Given the description of an element on the screen output the (x, y) to click on. 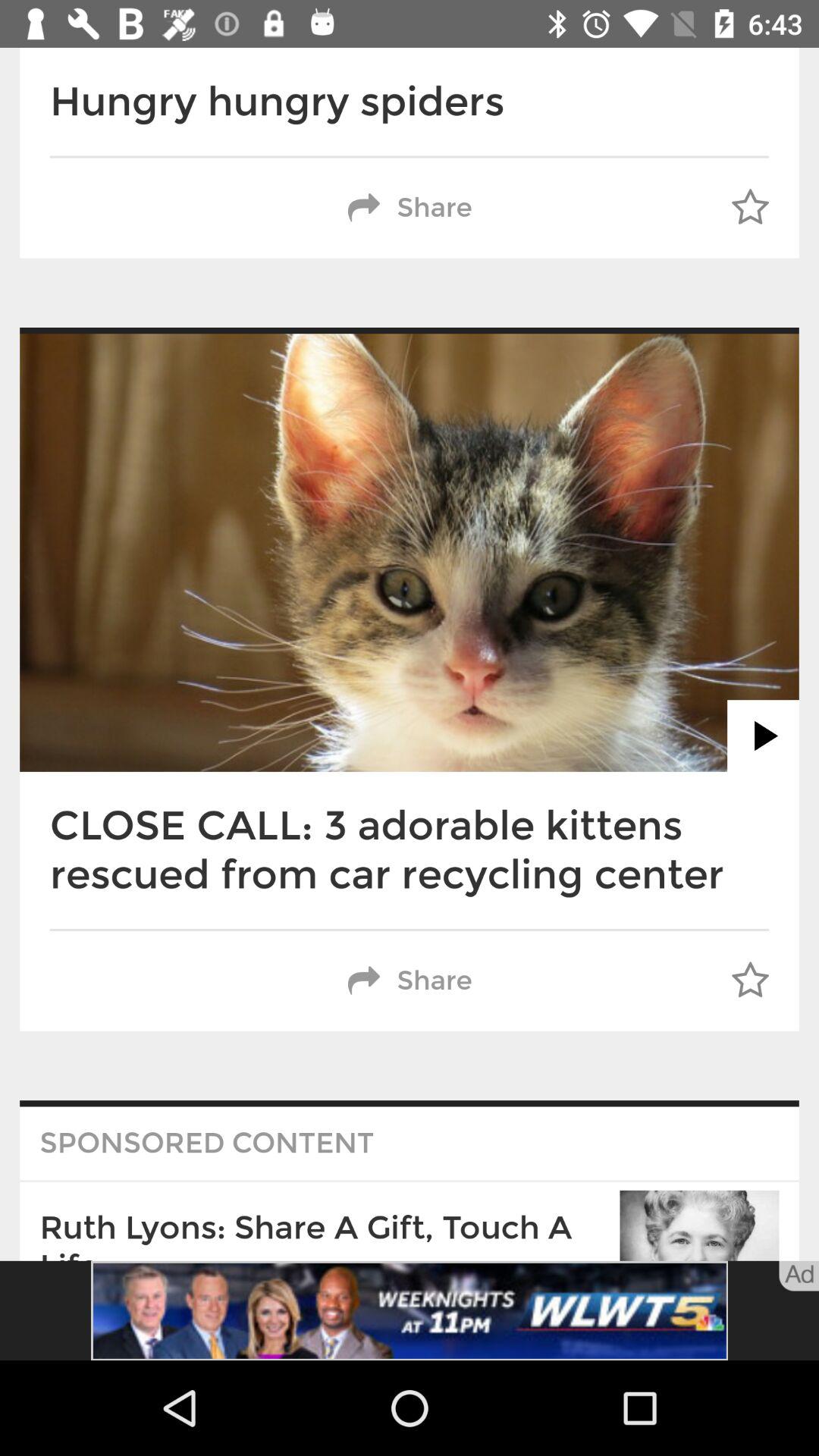
go forward (763, 735)
